Given the description of an element on the screen output the (x, y) to click on. 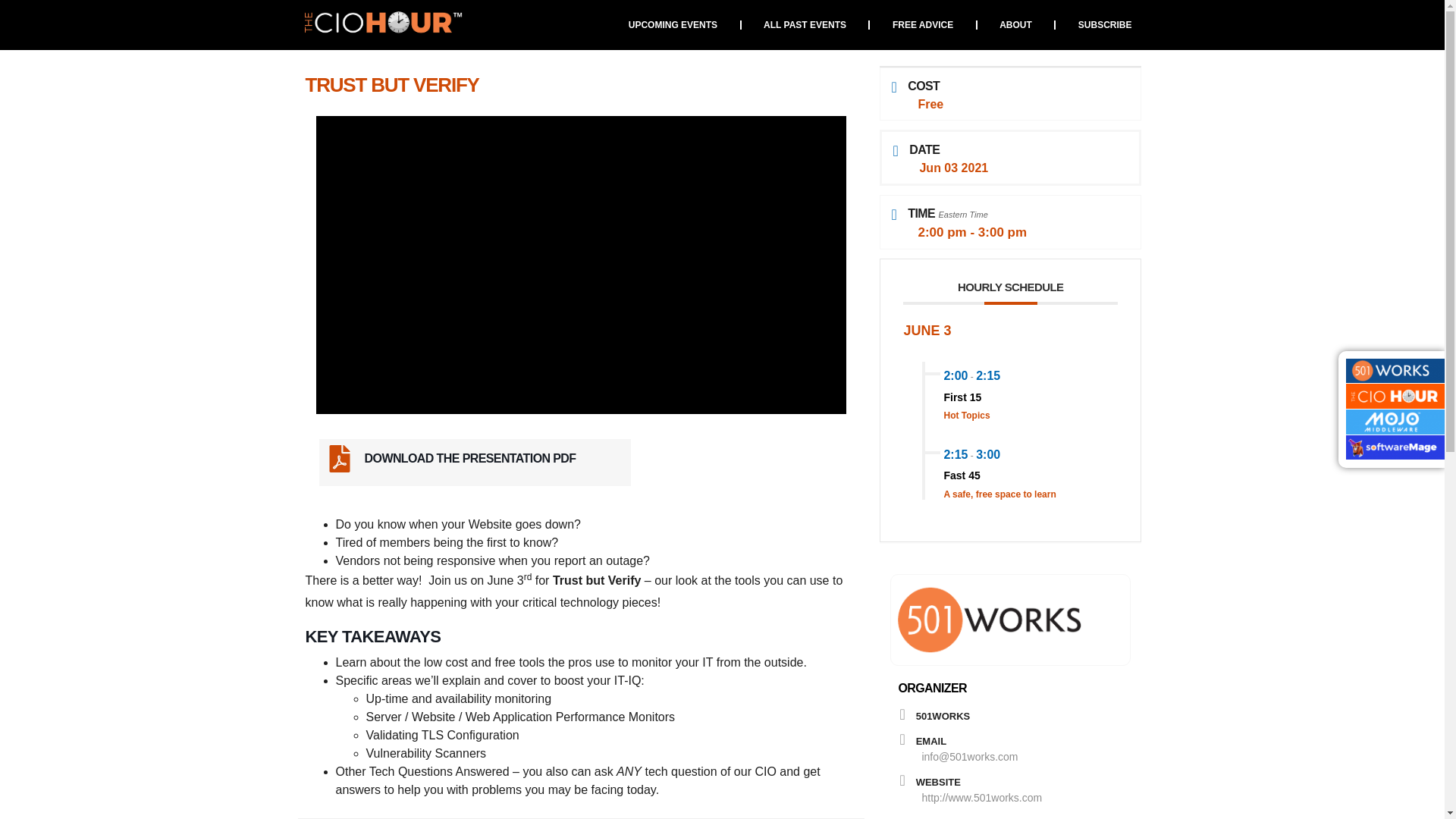
ABOUT (1015, 24)
DOWNLOAD THE PRESENTATION PDF (470, 458)
SUBSCRIBE (1104, 24)
ALL PAST EVENTS (805, 24)
FREE ADVICE (922, 24)
UPCOMING EVENTS (672, 24)
